Given the description of an element on the screen output the (x, y) to click on. 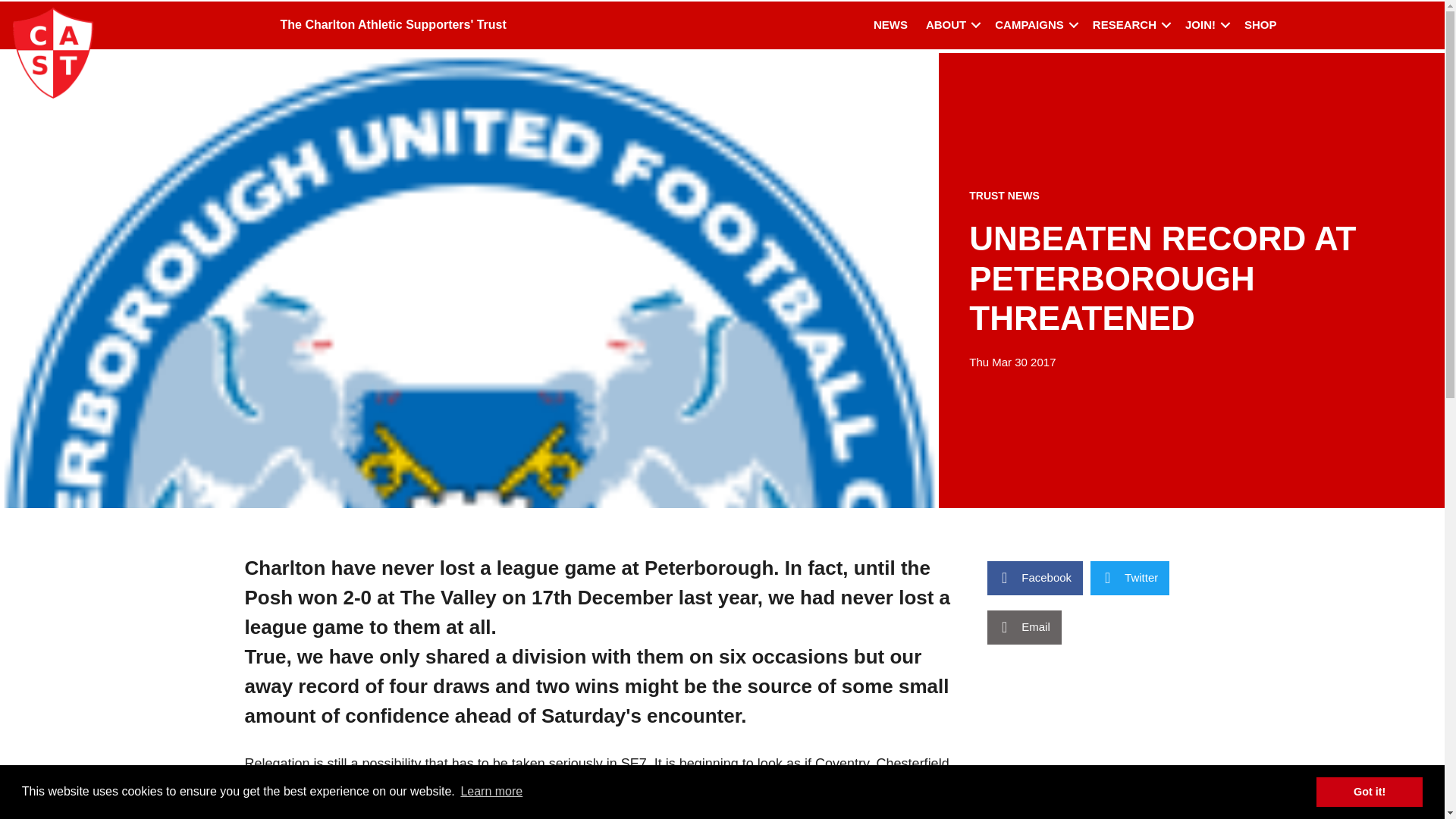
Email (1024, 626)
RESEARCH (1129, 25)
Learn more (491, 791)
CASTrust-Site-Icon (53, 52)
Facebook (1035, 578)
SHOP (1259, 25)
JOIN! (1205, 25)
TRUST NEWS (1004, 195)
NEWS (890, 25)
Twitter (1129, 578)
